Given the description of an element on the screen output the (x, y) to click on. 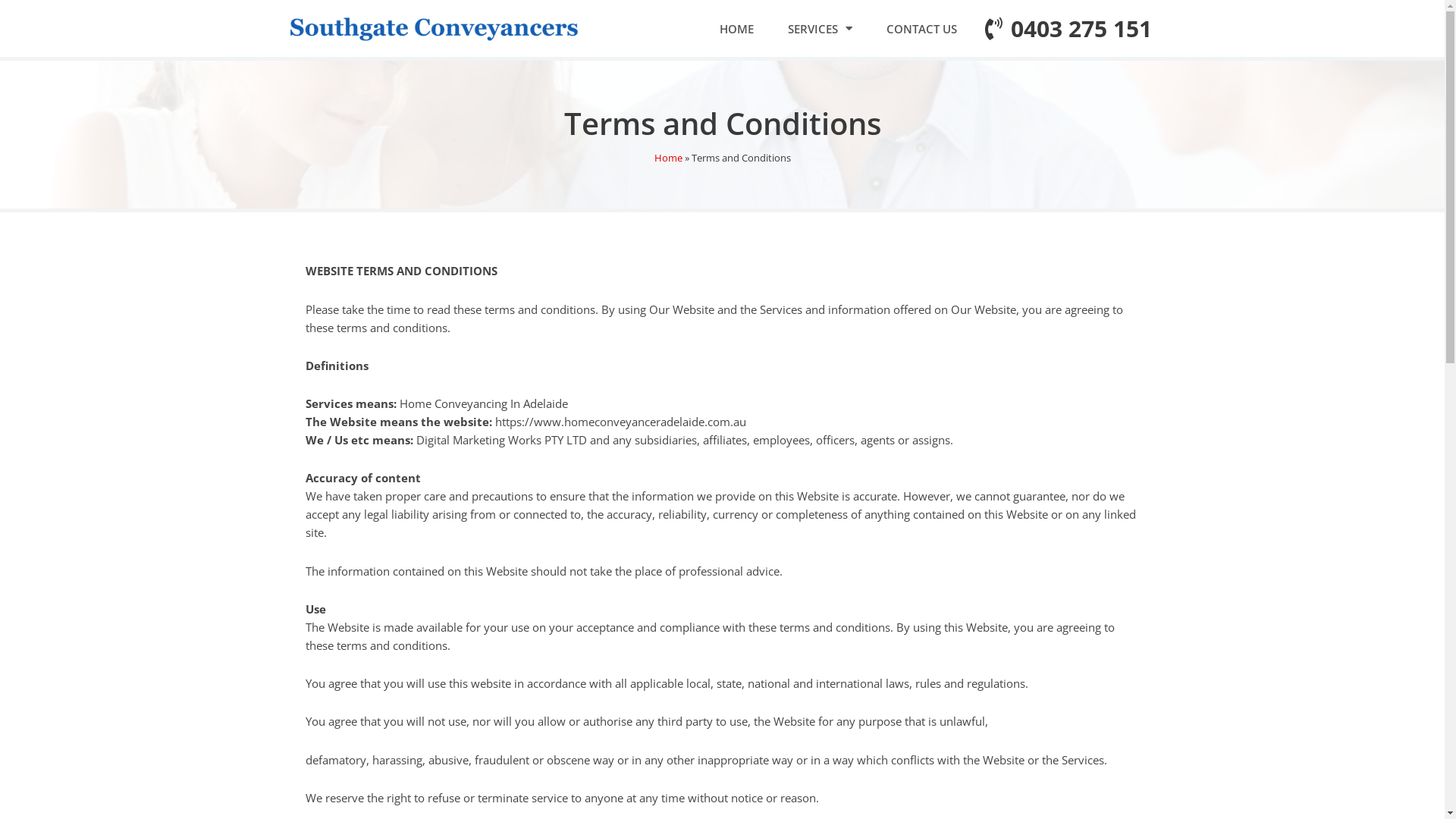
CONTACT US Element type: text (921, 28)
HOME Element type: text (736, 28)
0403 275 151 Element type: text (1062, 28)
Home Element type: text (667, 157)
SERVICES Element type: text (819, 28)
